Given the description of an element on the screen output the (x, y) to click on. 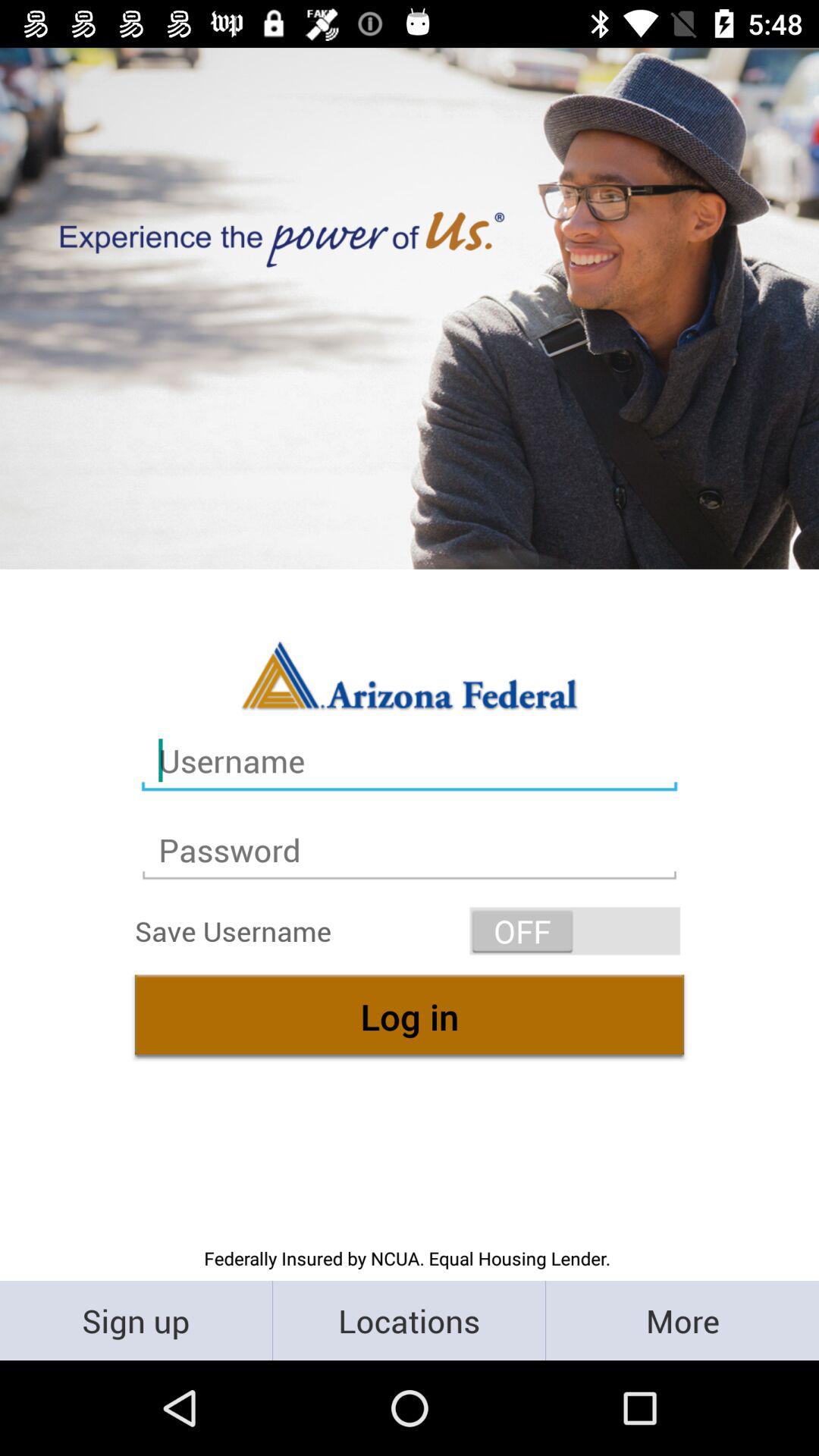
tap the icon below federally insured by item (136, 1320)
